Given the description of an element on the screen output the (x, y) to click on. 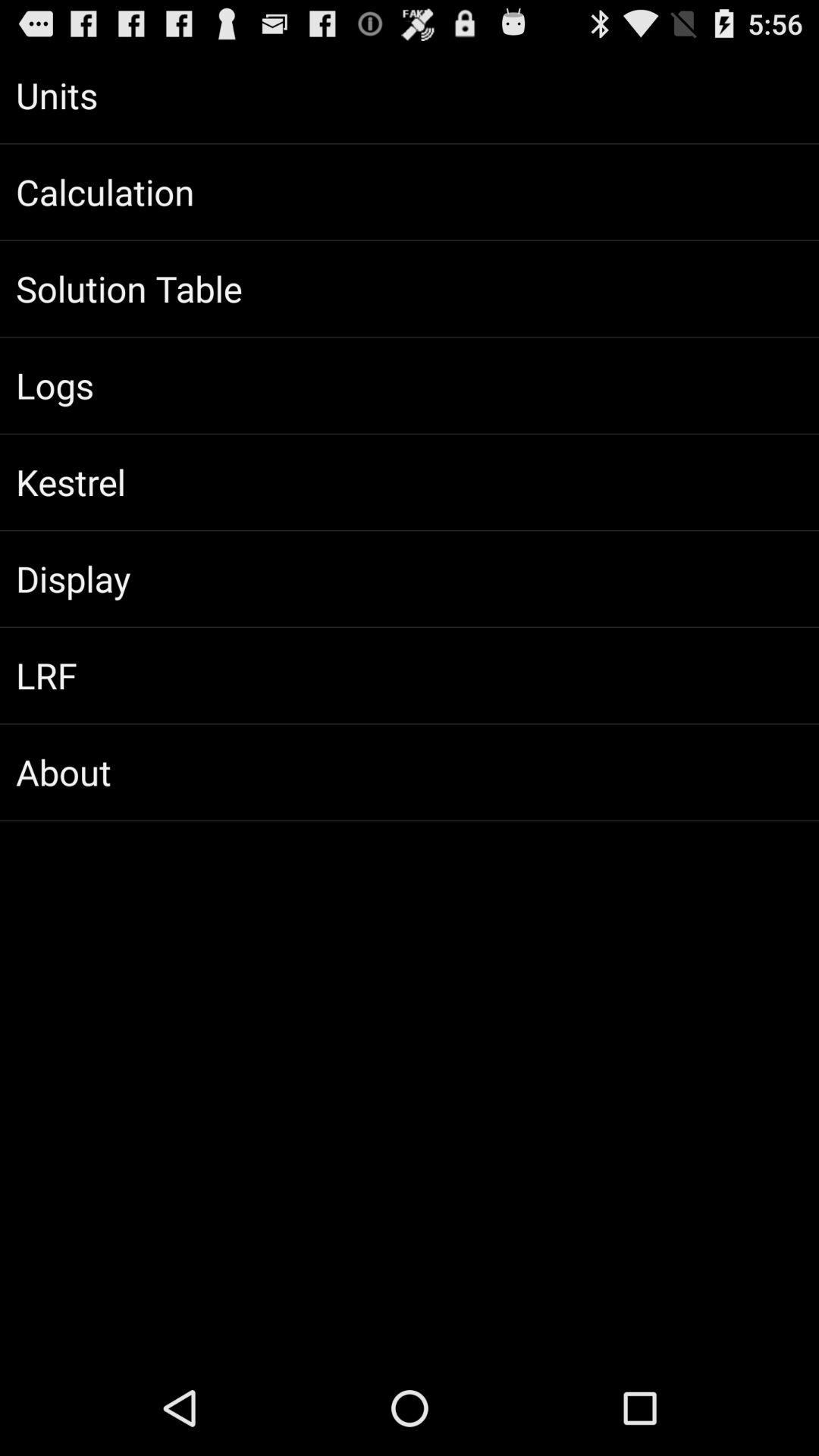
select the item below kestrel app (409, 578)
